Given the description of an element on the screen output the (x, y) to click on. 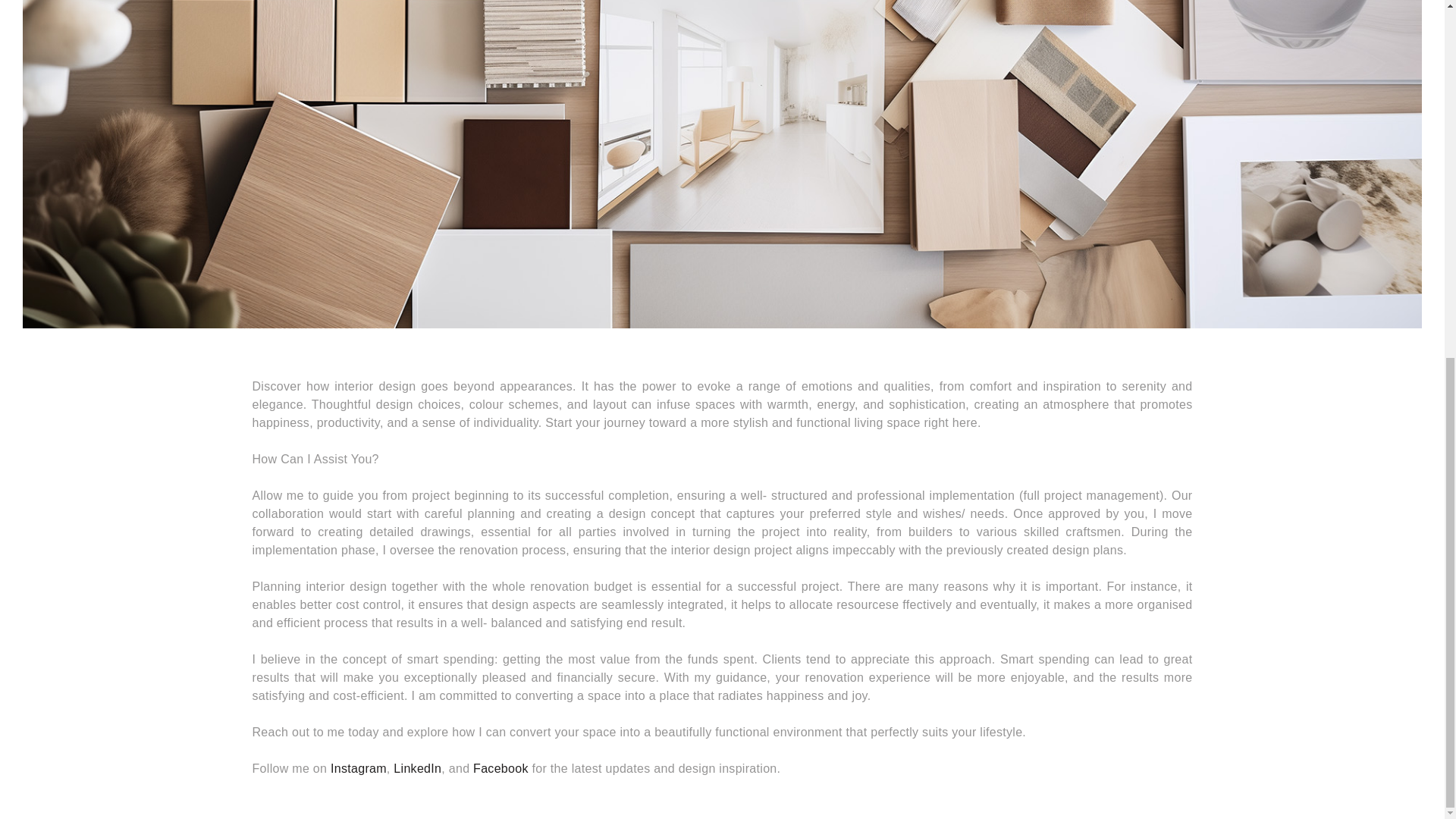
Facebook (500, 768)
LinkedIn (417, 768)
Instagram (358, 768)
